Given the description of an element on the screen output the (x, y) to click on. 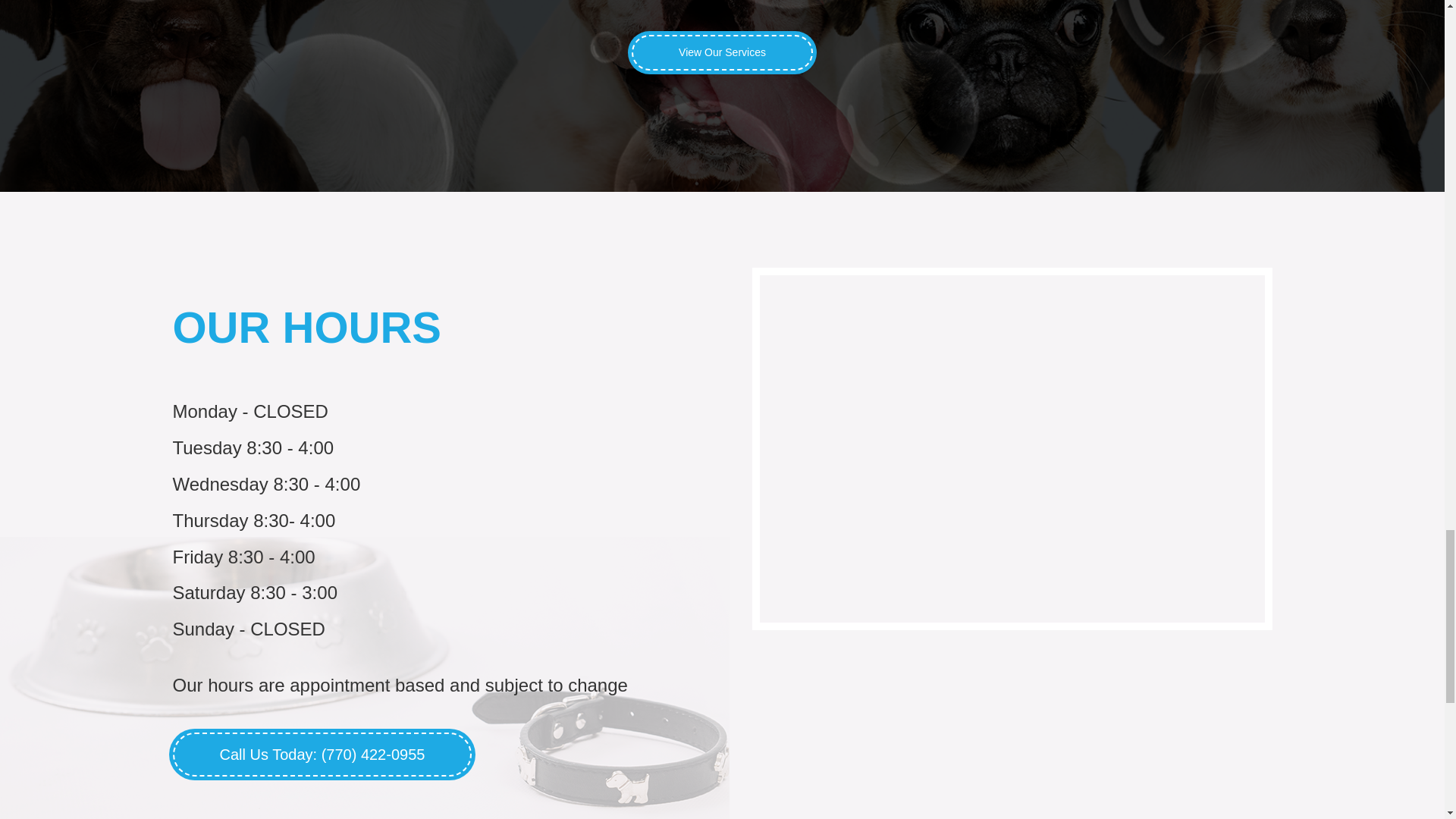
View Our Services (721, 53)
